Given the description of an element on the screen output the (x, y) to click on. 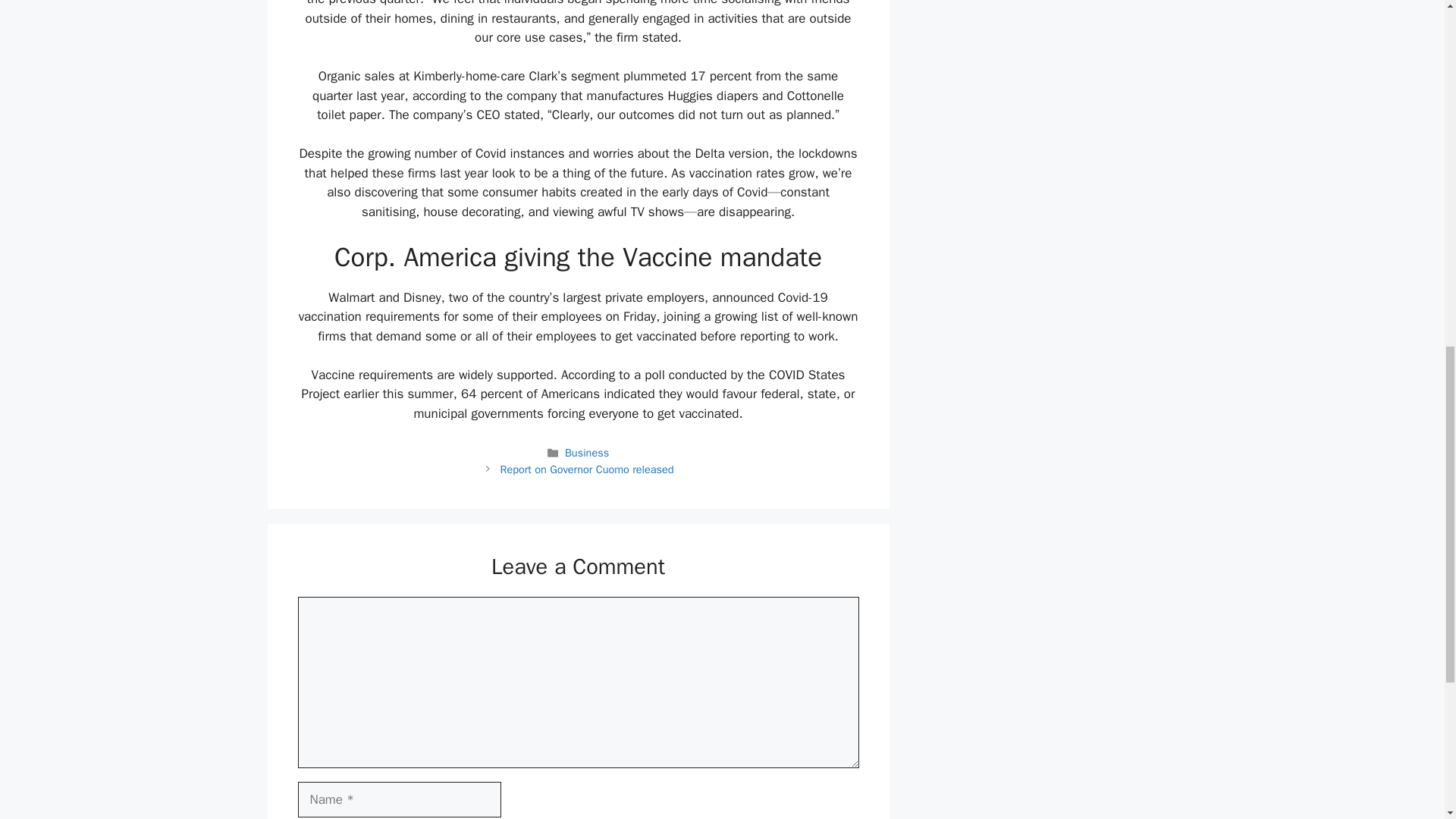
Report on Governor Cuomo released (585, 468)
Business (586, 452)
